Given the description of an element on the screen output the (x, y) to click on. 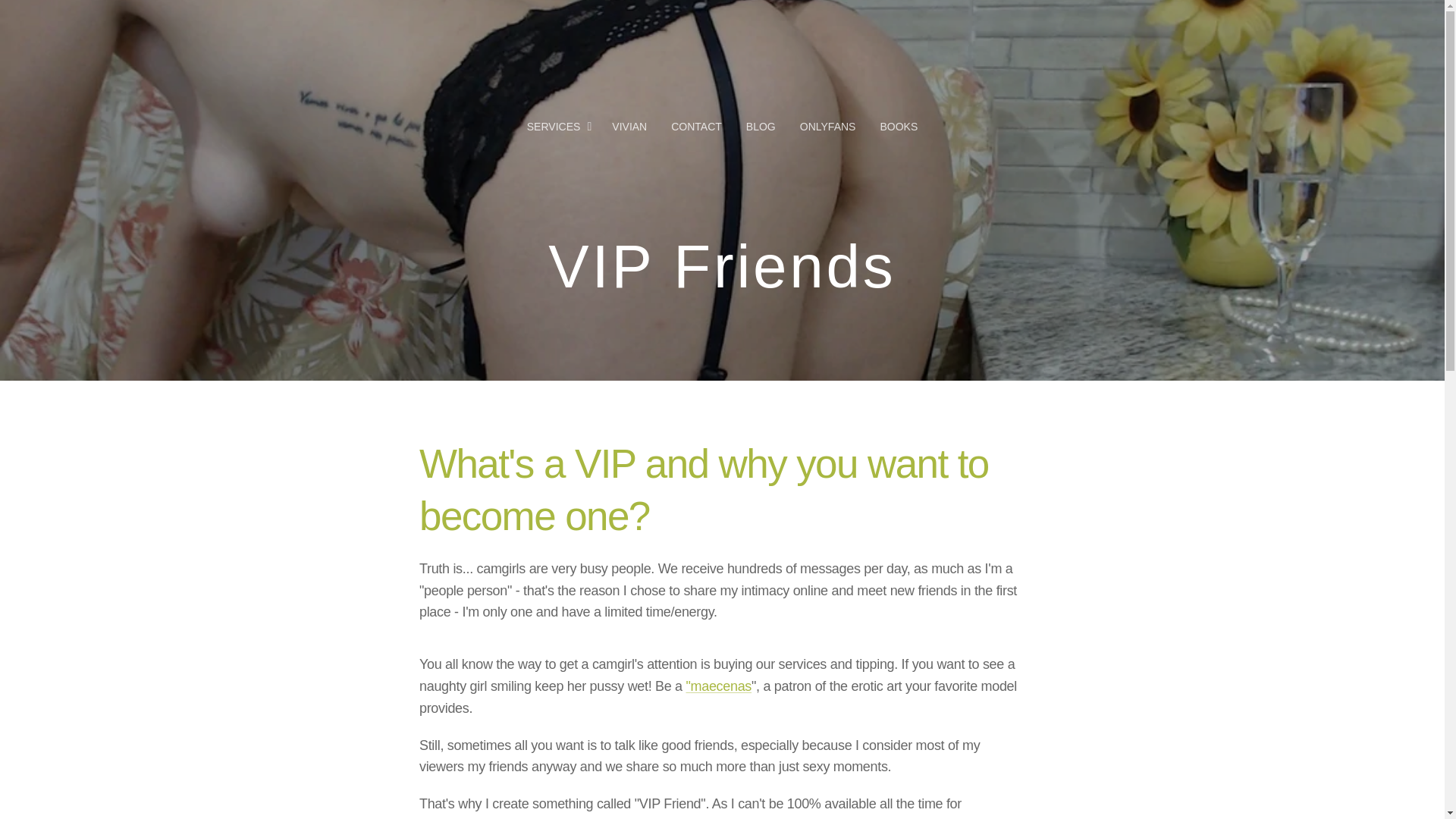
CONTACT (696, 126)
VIVIAN (629, 126)
maecenas (720, 685)
SERVICES (563, 126)
BLOG (760, 126)
ONLYFANS (827, 126)
BOOKS (892, 126)
